Given the description of an element on the screen output the (x, y) to click on. 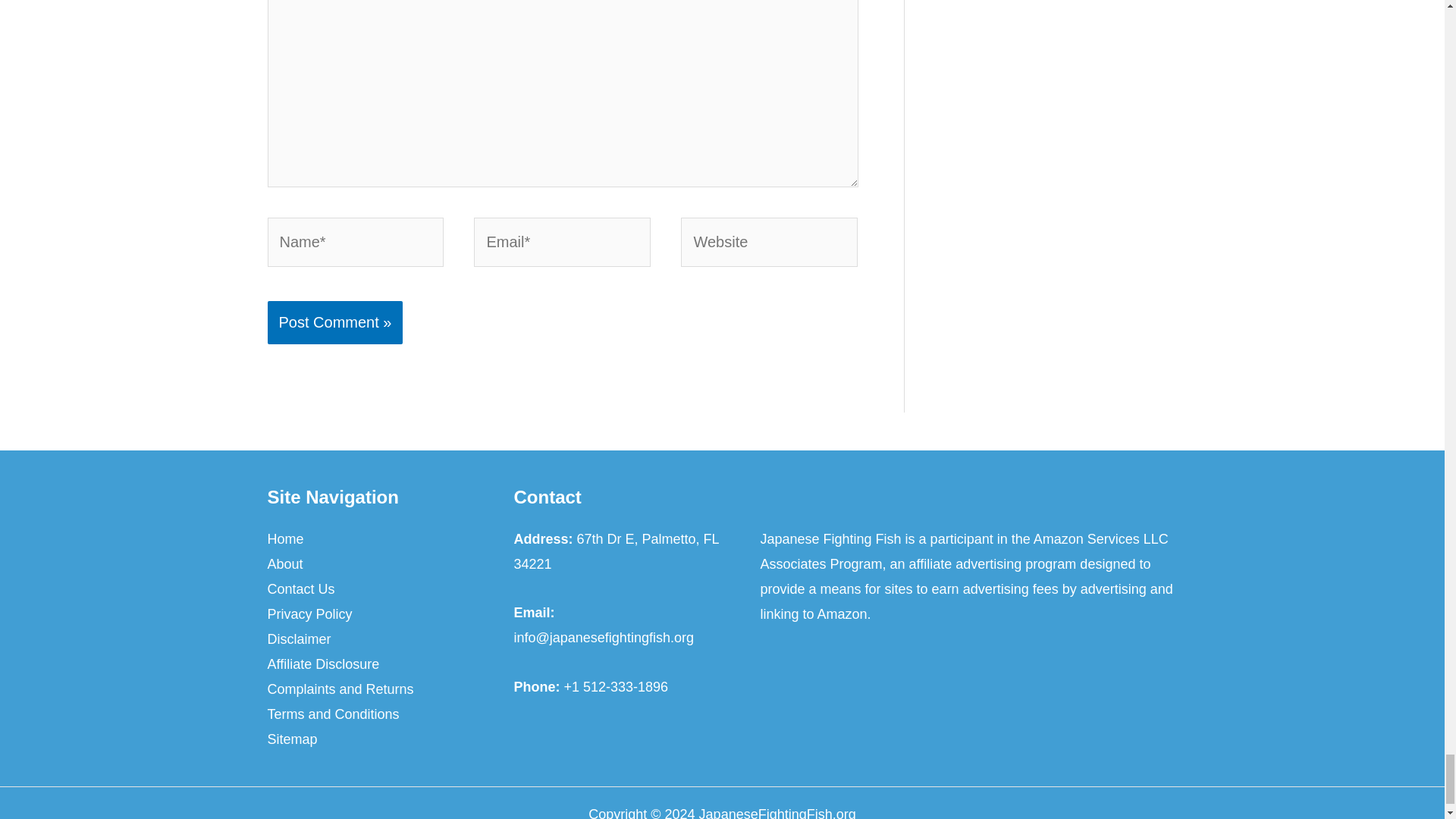
Betta Fish Home (284, 539)
Our Disclaimer (298, 639)
